Given the description of an element on the screen output the (x, y) to click on. 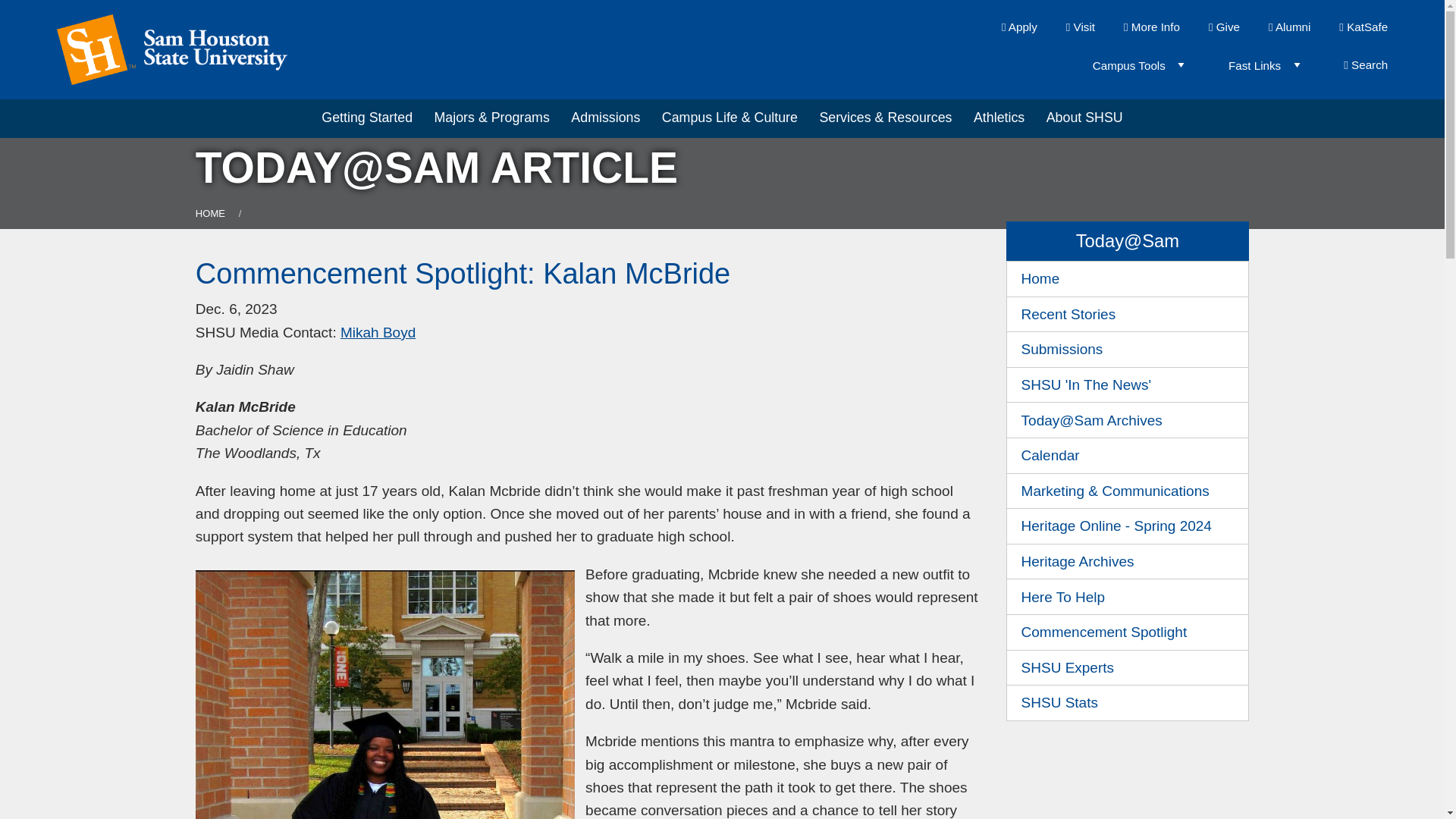
Fast Links (1258, 65)
Visit SHSU (1080, 26)
More Info (1151, 26)
KatSafe (1363, 26)
Apply (1019, 26)
Request info from SHSU (1151, 26)
Alumni (1288, 26)
Campus Tools (1132, 65)
Alumni (1288, 26)
Give (1223, 26)
